Given the description of an element on the screen output the (x, y) to click on. 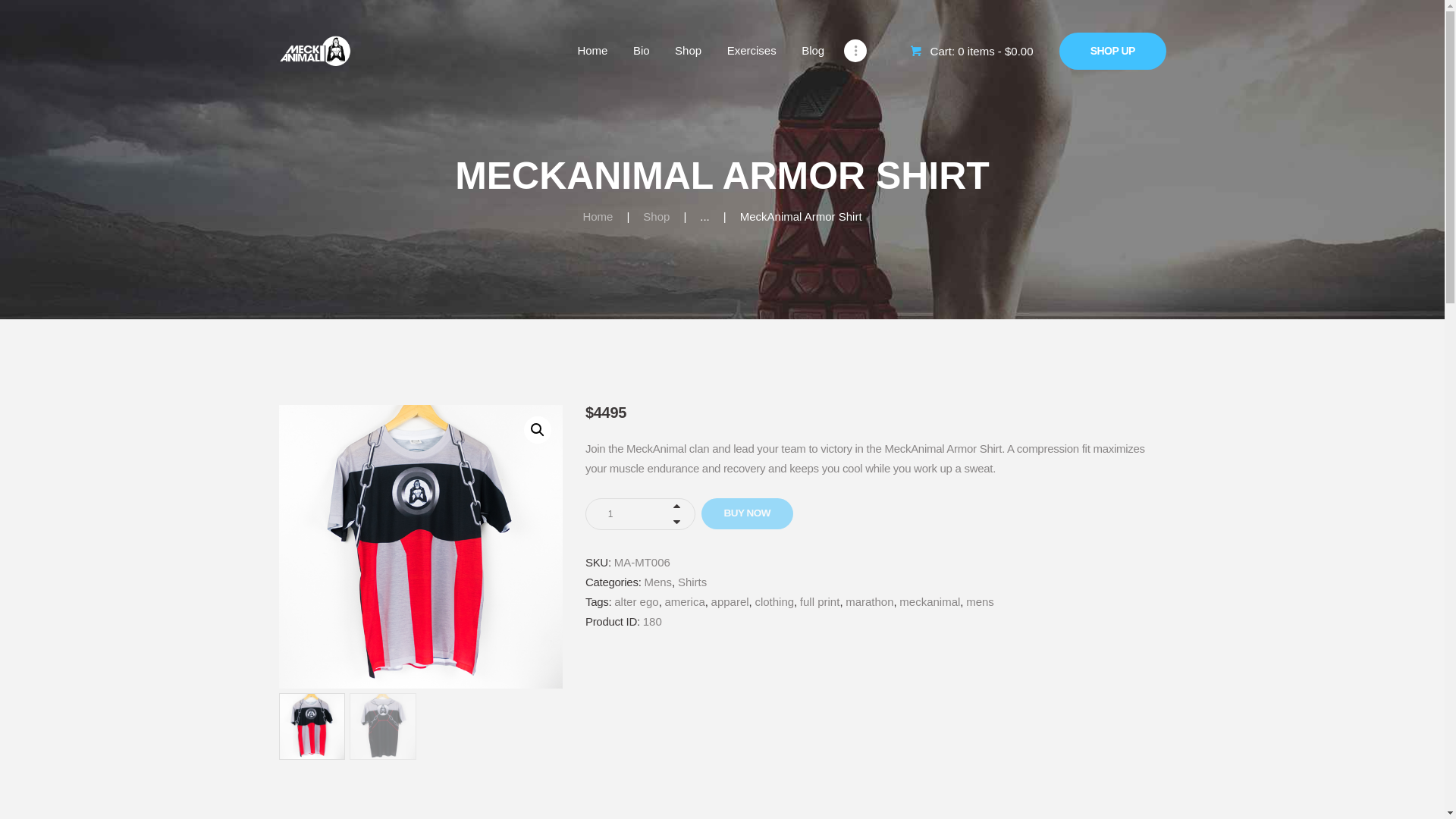
america (683, 601)
Home (597, 216)
mens (980, 601)
Mens (657, 581)
clothing (773, 601)
Bio (641, 50)
Home (592, 50)
Shirts (692, 581)
Exercises (751, 50)
BUY NOW (747, 513)
